Given the description of an element on the screen output the (x, y) to click on. 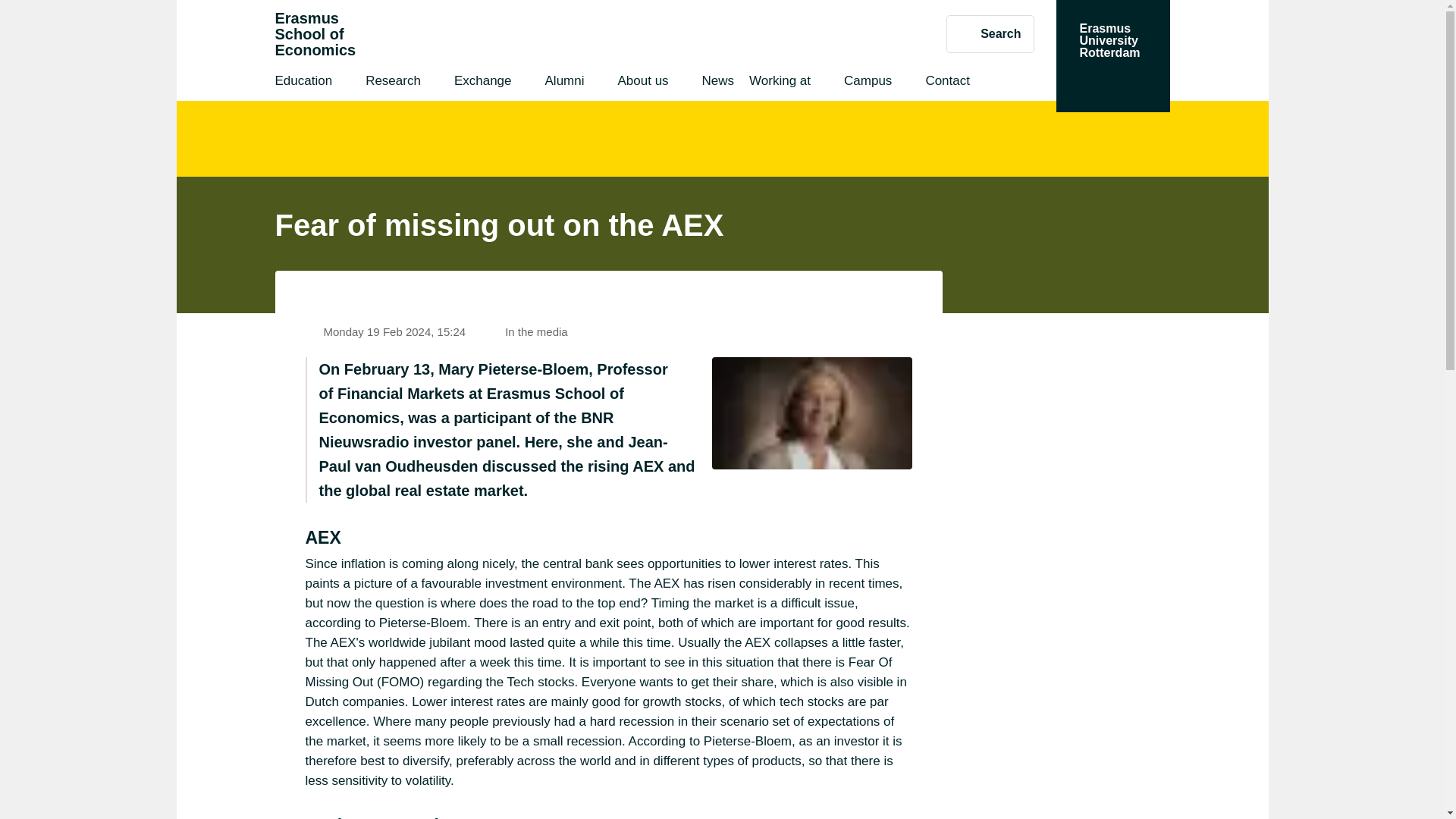
Education (302, 82)
Listen to this page using ReadSpeaker (923, 290)
Search (315, 34)
Research (989, 33)
Exchange (392, 82)
